Given the description of an element on the screen output the (x, y) to click on. 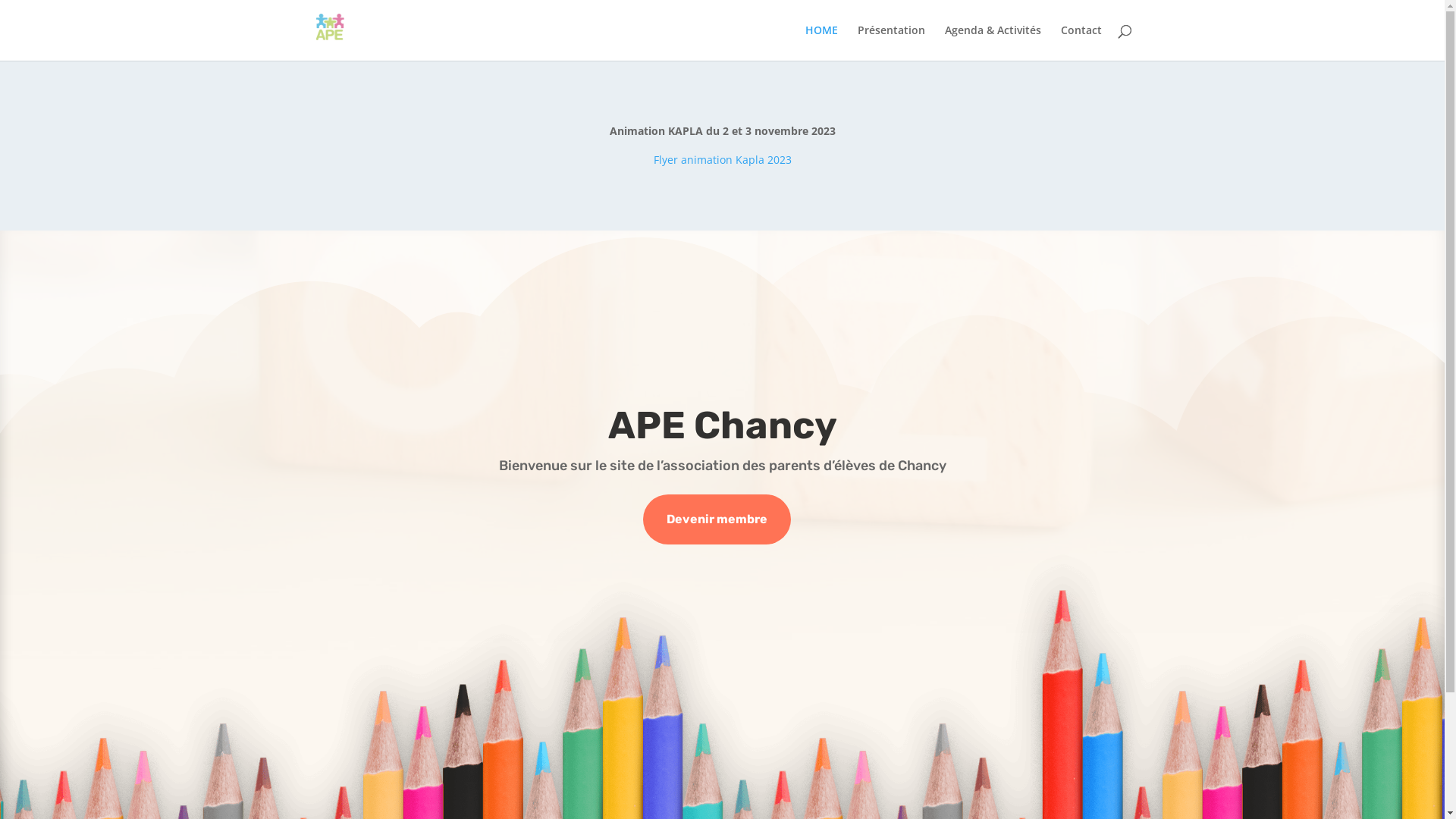
Flyer animation Kapla 2023 Element type: text (722, 159)
HOME Element type: text (821, 42)
Contact Element type: text (1080, 42)
Devenir membre Element type: text (716, 519)
